Given the description of an element on the screen output the (x, y) to click on. 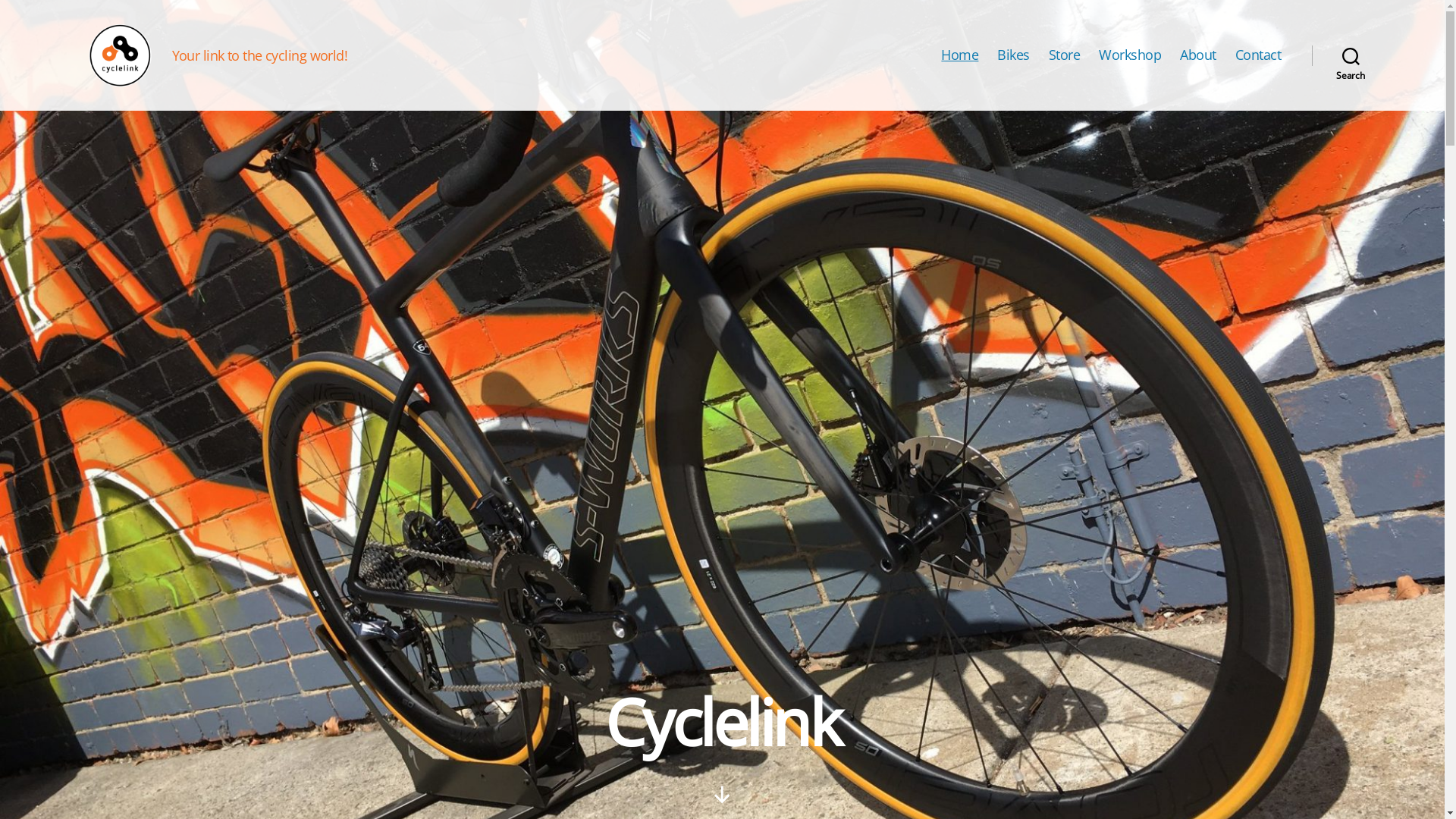
About Element type: text (1197, 55)
Search Element type: text (1350, 55)
Bikes Element type: text (1013, 55)
Workshop Element type: text (1129, 55)
Store Element type: text (1064, 55)
Scroll Down Element type: text (722, 794)
Home Element type: text (959, 55)
Contact Element type: text (1258, 55)
